Given the description of an element on the screen output the (x, y) to click on. 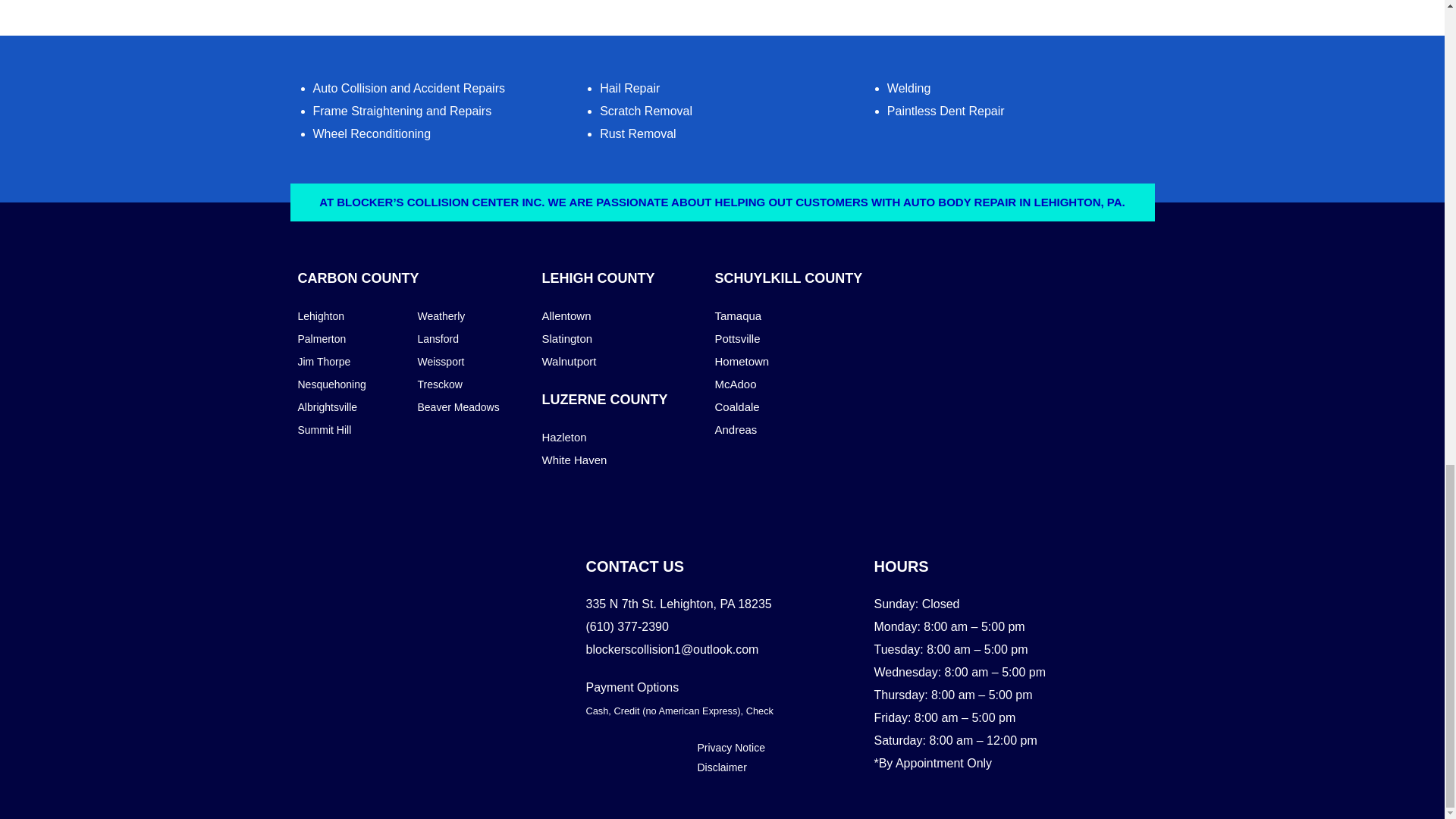
Disclaimer (721, 767)
335 N 7th St. Lehighton, PA 18235 (433, 659)
Privacy Notice (730, 747)
